Given the description of an element on the screen output the (x, y) to click on. 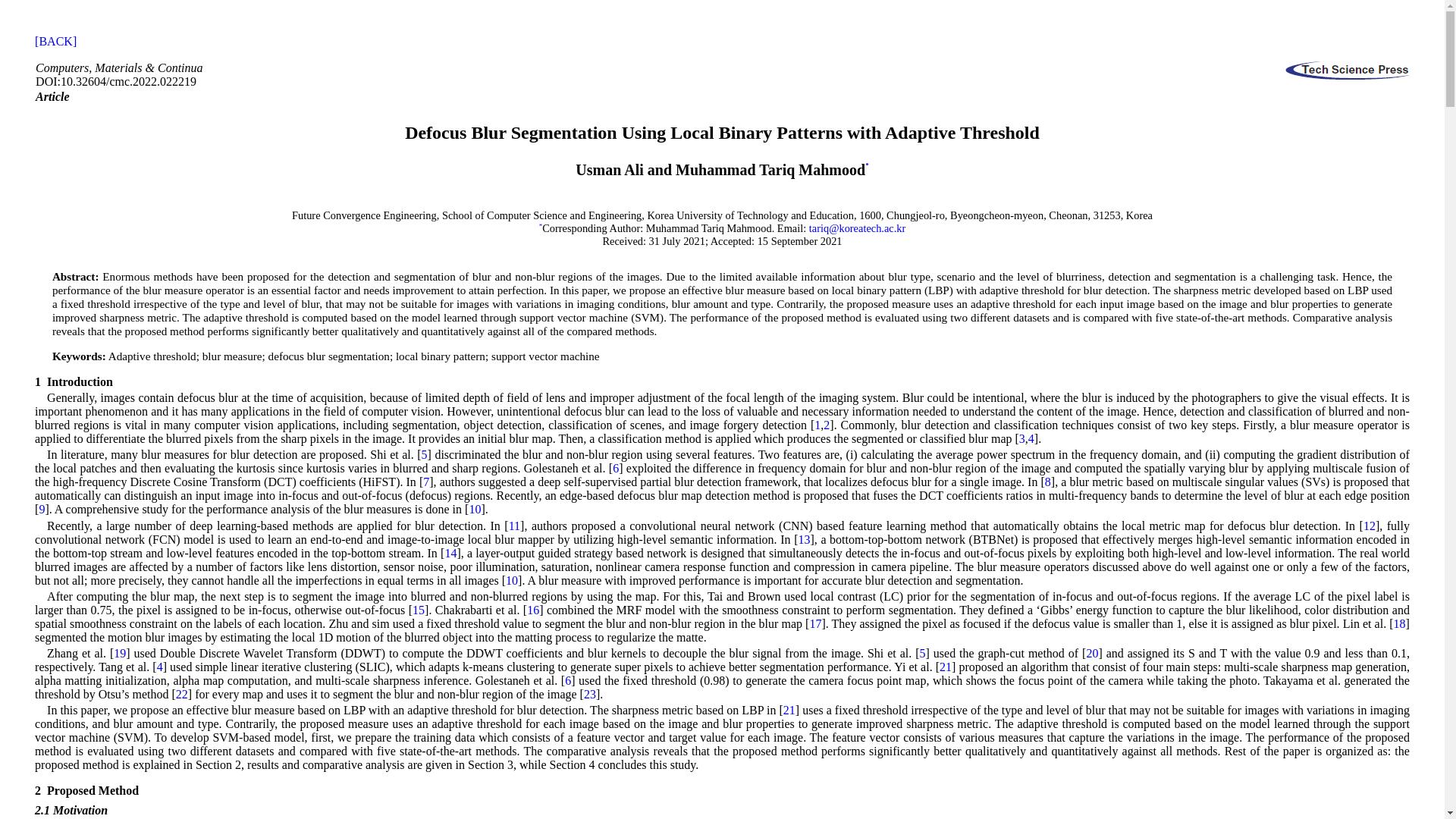
23 (589, 694)
16 (532, 609)
19 (119, 653)
21 (788, 709)
20 (1091, 653)
10 (511, 580)
13 (803, 539)
14 (450, 553)
10 (474, 508)
18 (1399, 623)
